Given the description of an element on the screen output the (x, y) to click on. 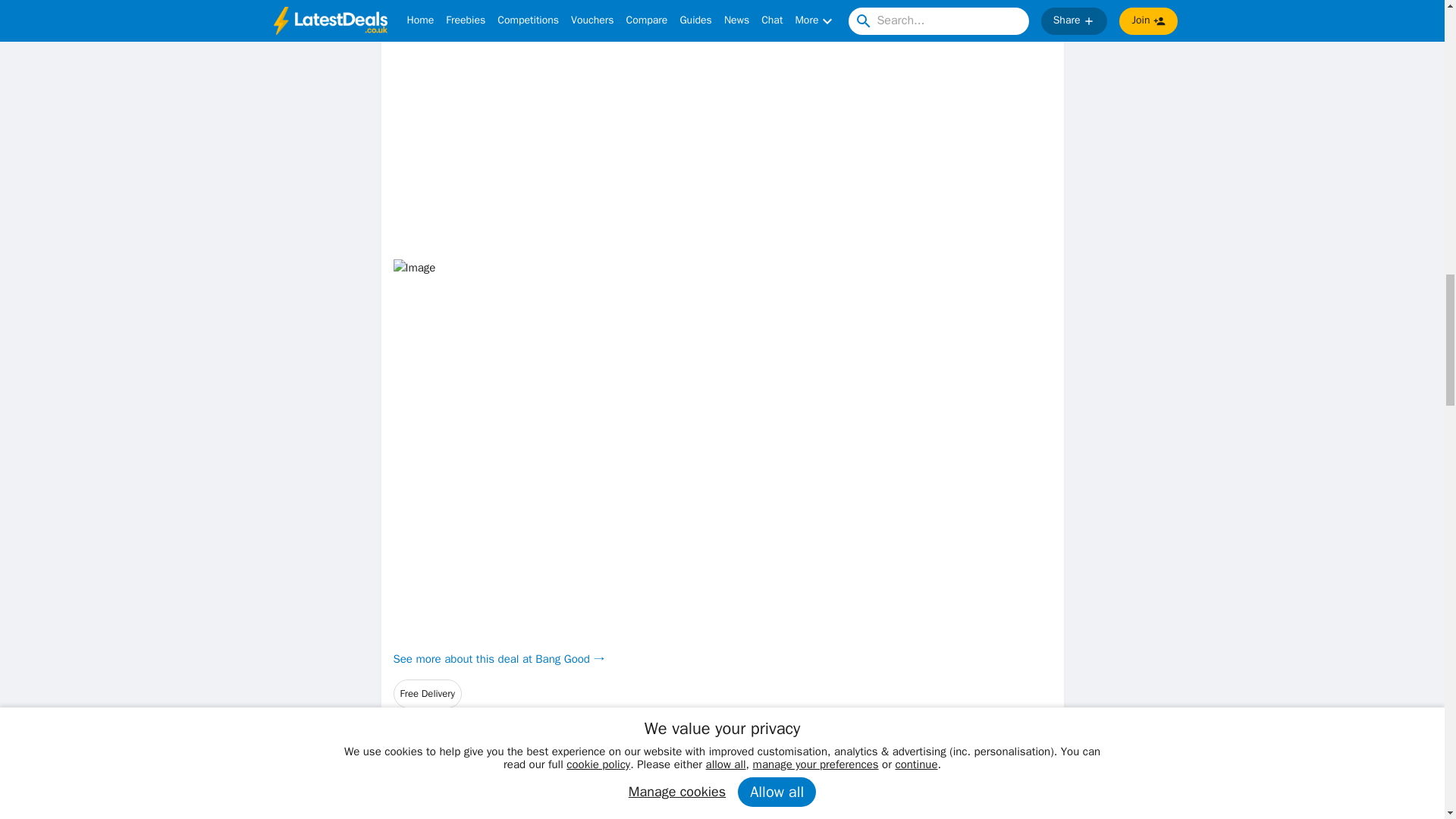
Top Offers (722, 765)
Free Delivery (427, 693)
